Given the description of an element on the screen output the (x, y) to click on. 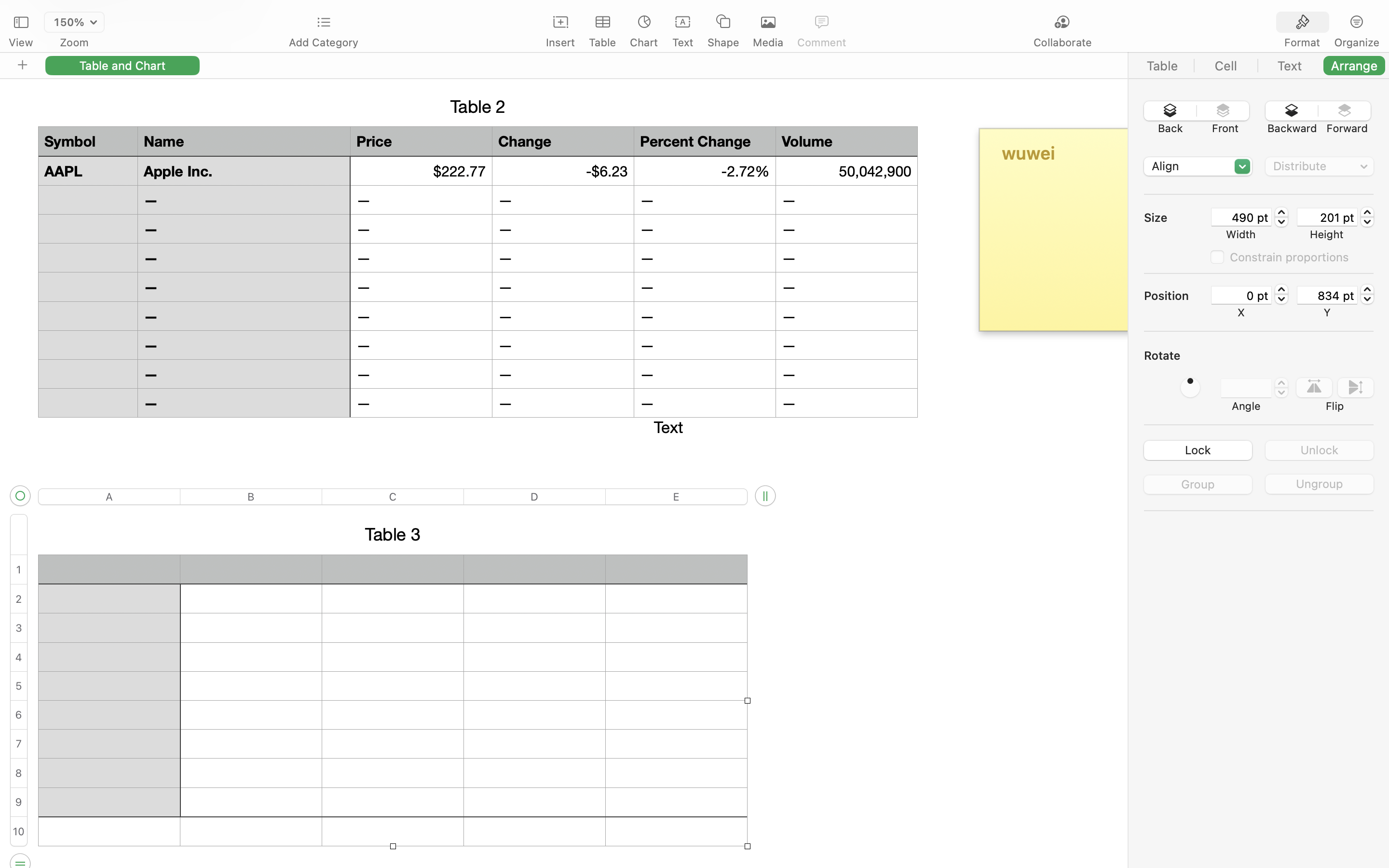
490 pt Element type: AXTextField (1241, 216)
Insert Element type: AXStaticText (560, 42)
Add Category Element type: AXStaticText (322, 42)
Width Element type: AXStaticText (1240, 234)
Y Element type: AXStaticText (1327, 312)
